Given the description of an element on the screen output the (x, y) to click on. 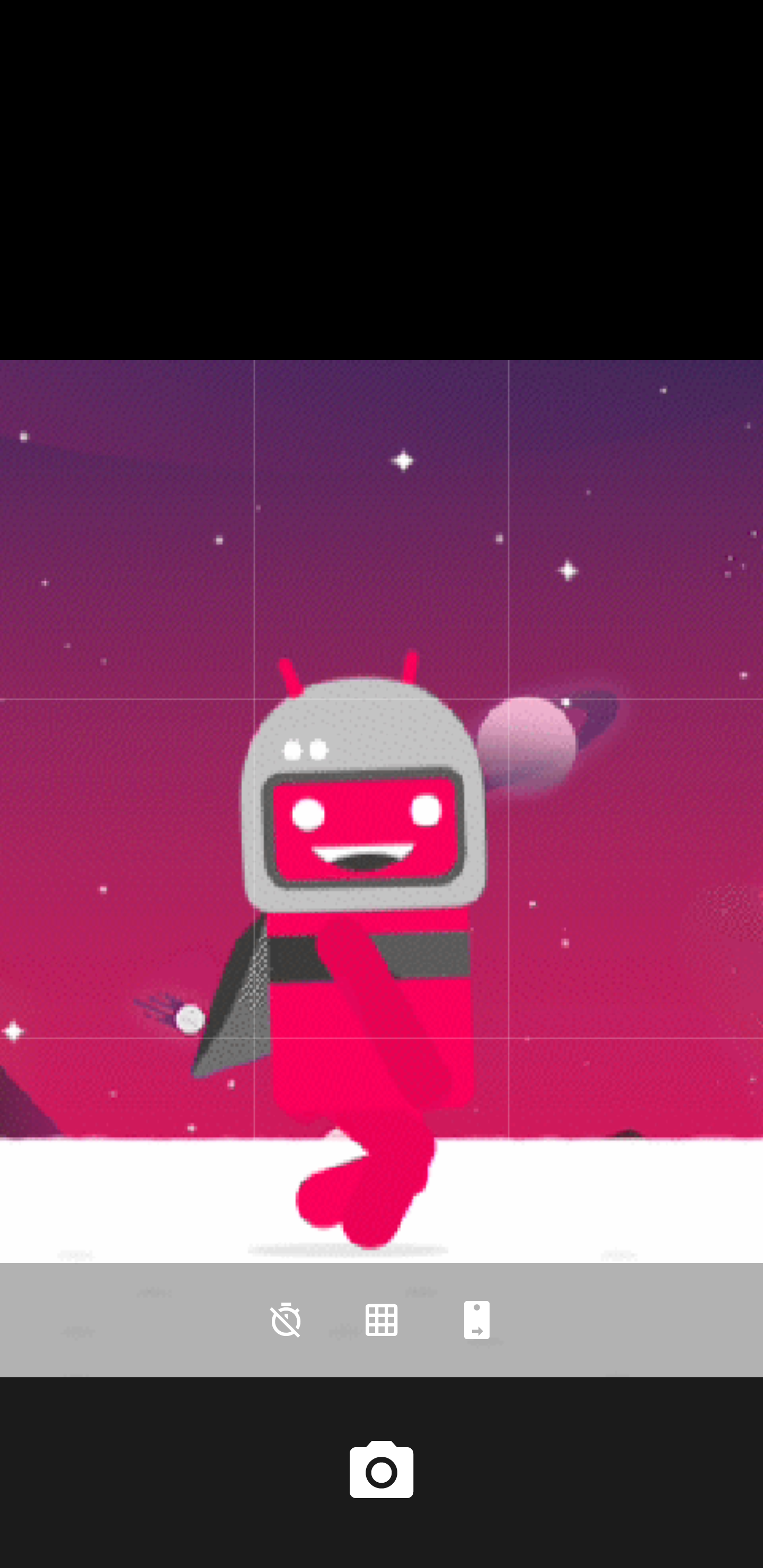
Countdown timer is off (285, 1319)
Grid lines on (381, 1319)
Back camera (476, 1319)
Shutter (381, 1472)
